Given the description of an element on the screen output the (x, y) to click on. 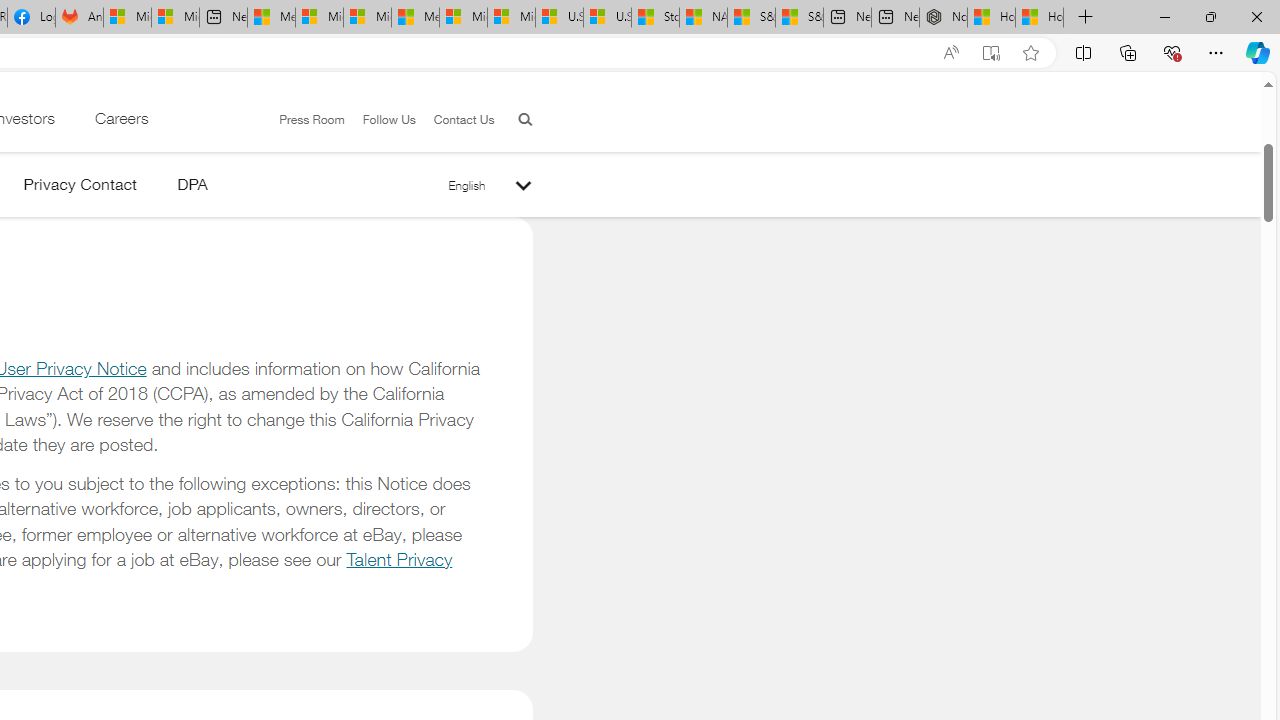
Microsoft account | Home (367, 17)
DPA (191, 188)
Privacy Contact (80, 188)
Enter Immersive Reader (F9) (991, 53)
